Given the description of an element on the screen output the (x, y) to click on. 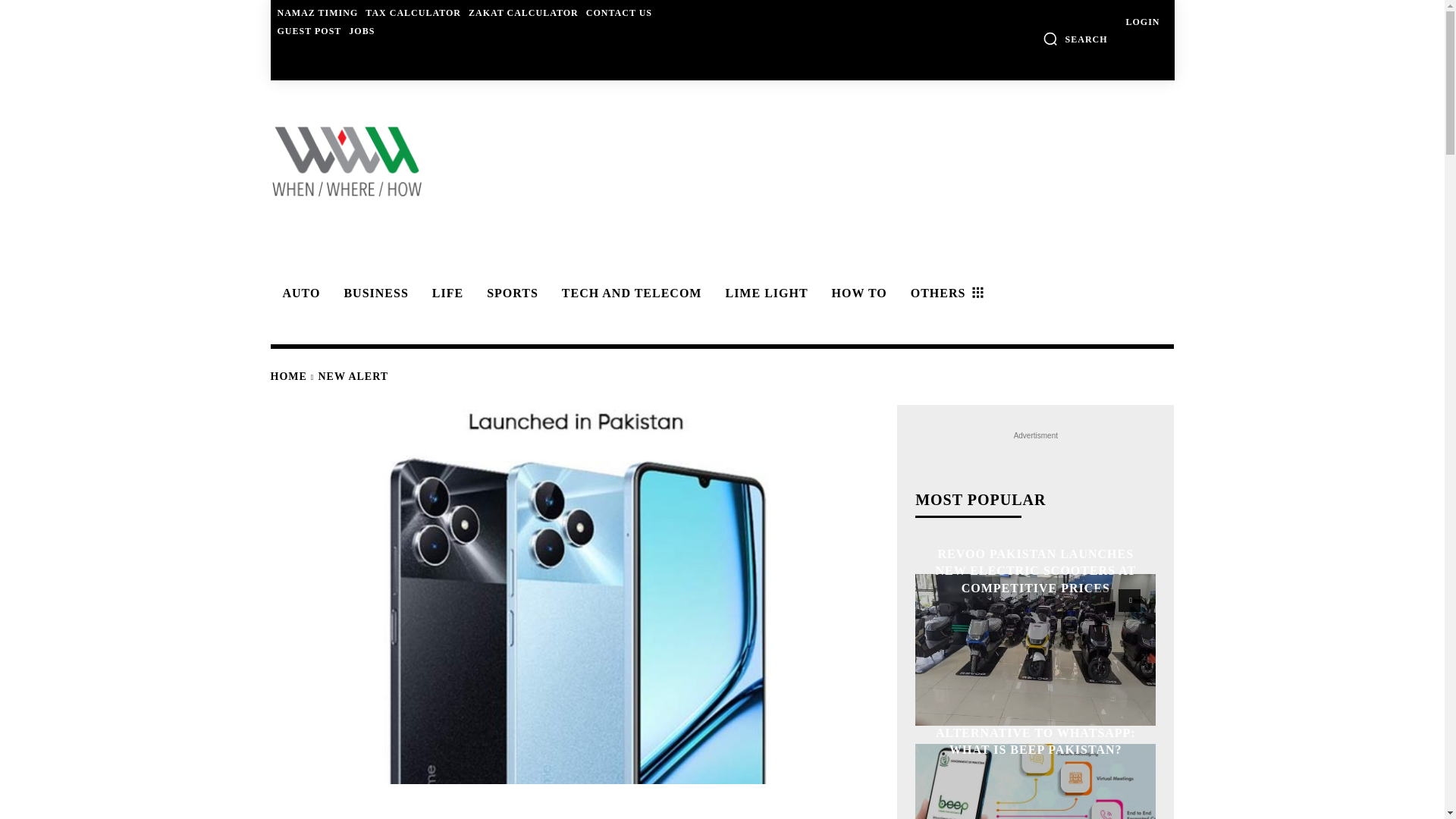
View all posts in New Alert (353, 376)
AUTO (298, 293)
TECH AND TELECOM (630, 293)
JOBS (361, 31)
ZAKAT CALCULATOR (523, 12)
BUSINESS (372, 293)
CONTACT US (619, 12)
LIFE (445, 293)
LOGIN (1141, 21)
GUEST POST (310, 31)
HOW TO (857, 293)
TAX CALCULATOR (413, 12)
SPORTS (510, 293)
OTHERS (945, 293)
SEARCH (1075, 38)
